Given the description of an element on the screen output the (x, y) to click on. 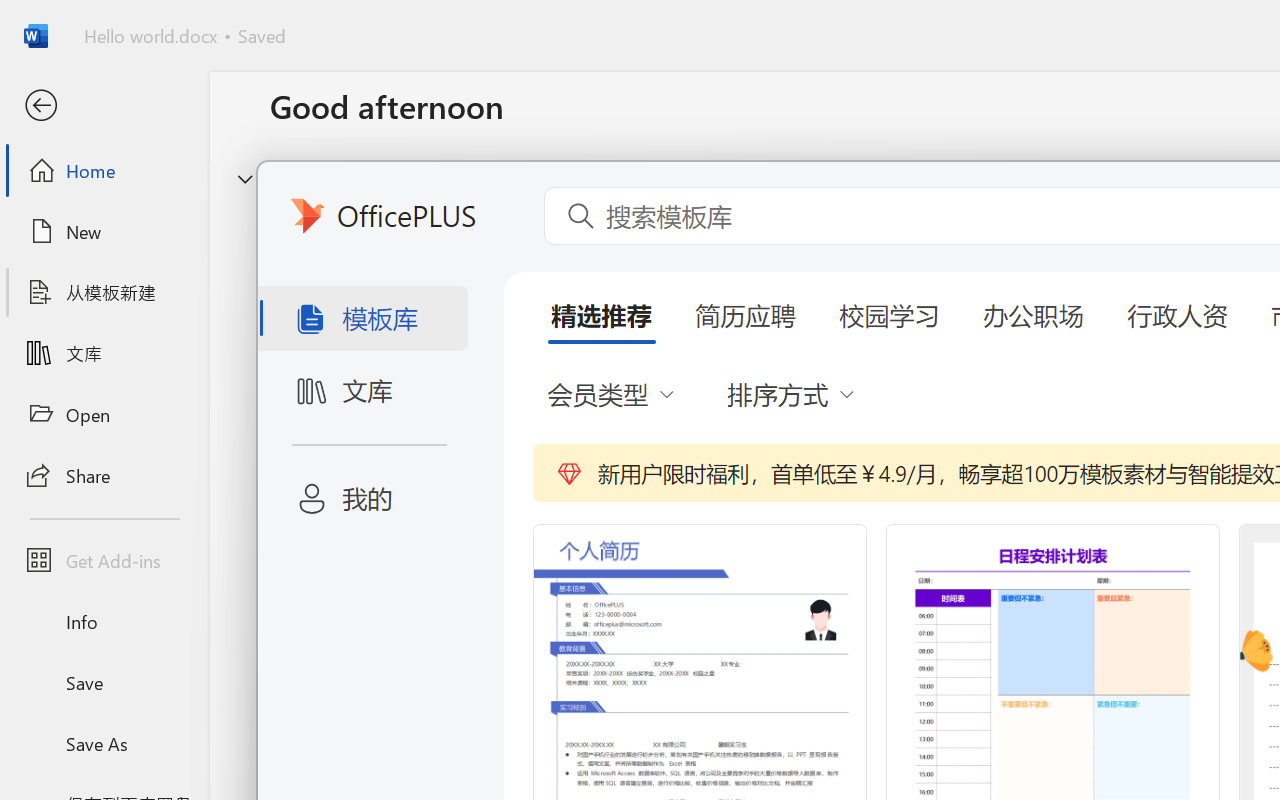
Link Text (702, 138)
Captions & Subtitles (1019, 168)
